Given the description of an element on the screen output the (x, y) to click on. 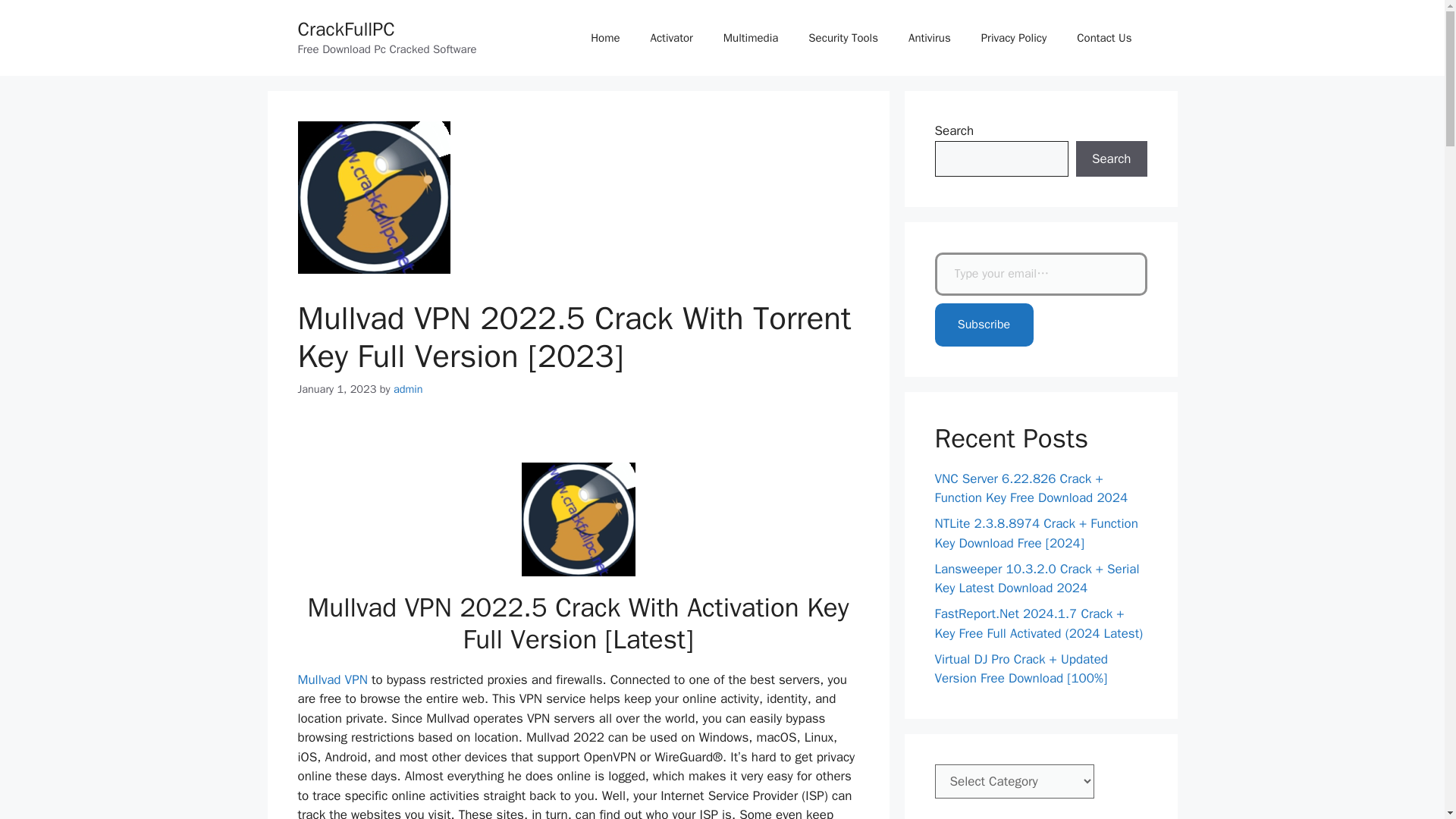
admin (408, 388)
Security Tools (843, 37)
Antivirus (929, 37)
Mullvad VPN (331, 679)
Activator (670, 37)
Multimedia (750, 37)
CrackFullPC (345, 28)
Home (604, 37)
Privacy Policy (1014, 37)
View all posts by admin (408, 388)
